Given the description of an element on the screen output the (x, y) to click on. 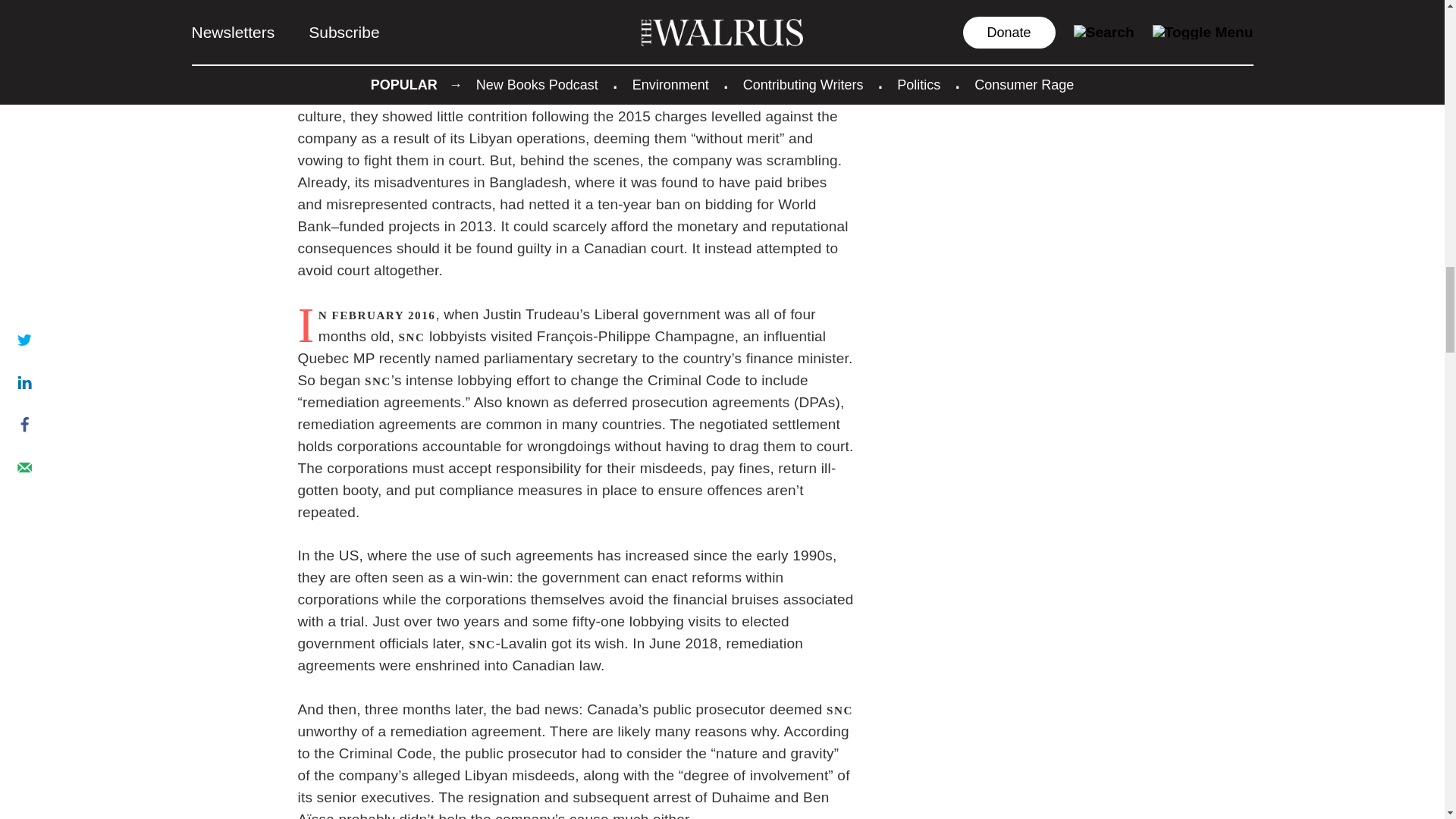
3rd party ad content (576, 35)
